Given the description of an element on the screen output the (x, y) to click on. 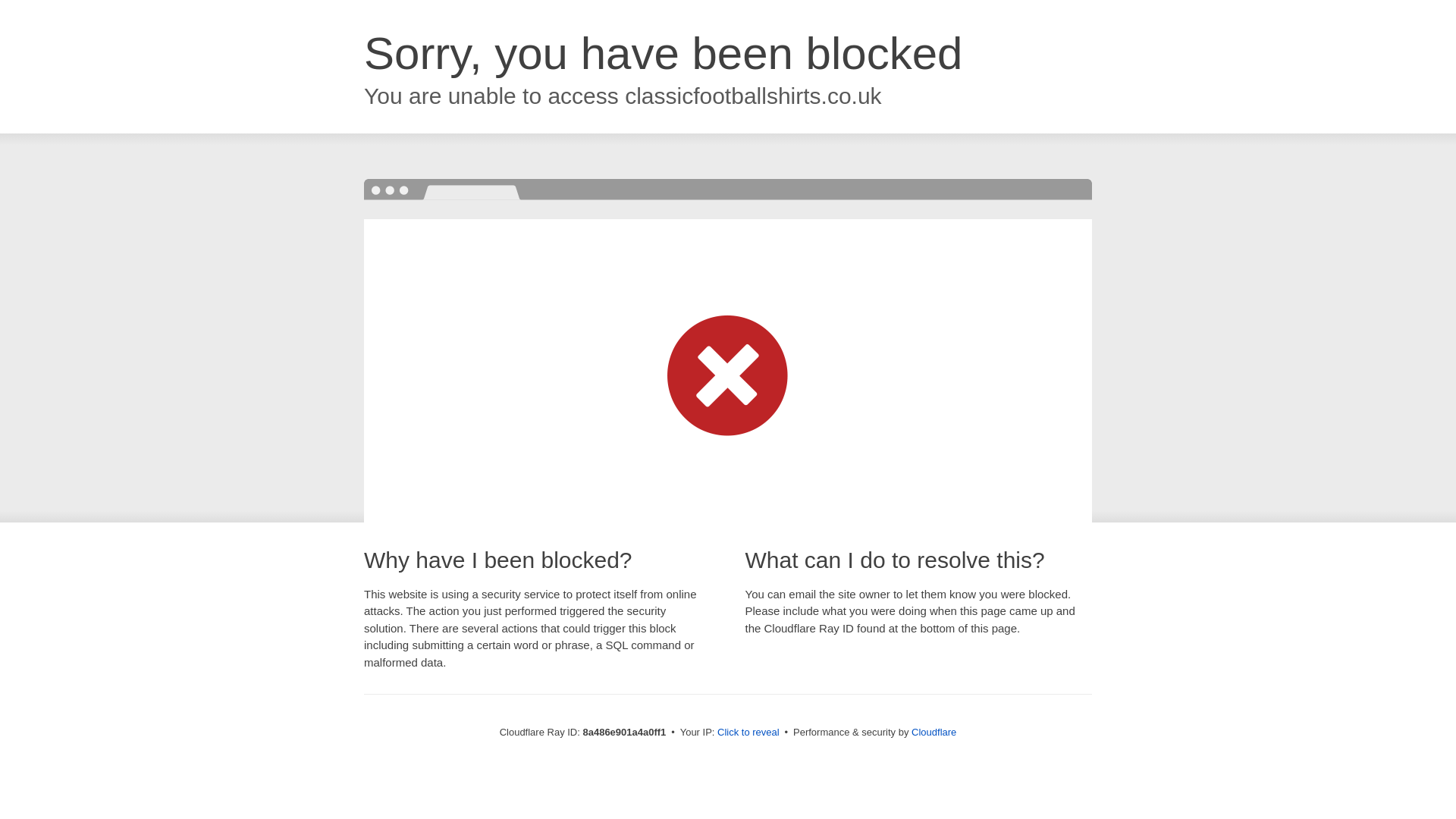
Cloudflare (933, 731)
Click to reveal (747, 732)
